Given the description of an element on the screen output the (x, y) to click on. 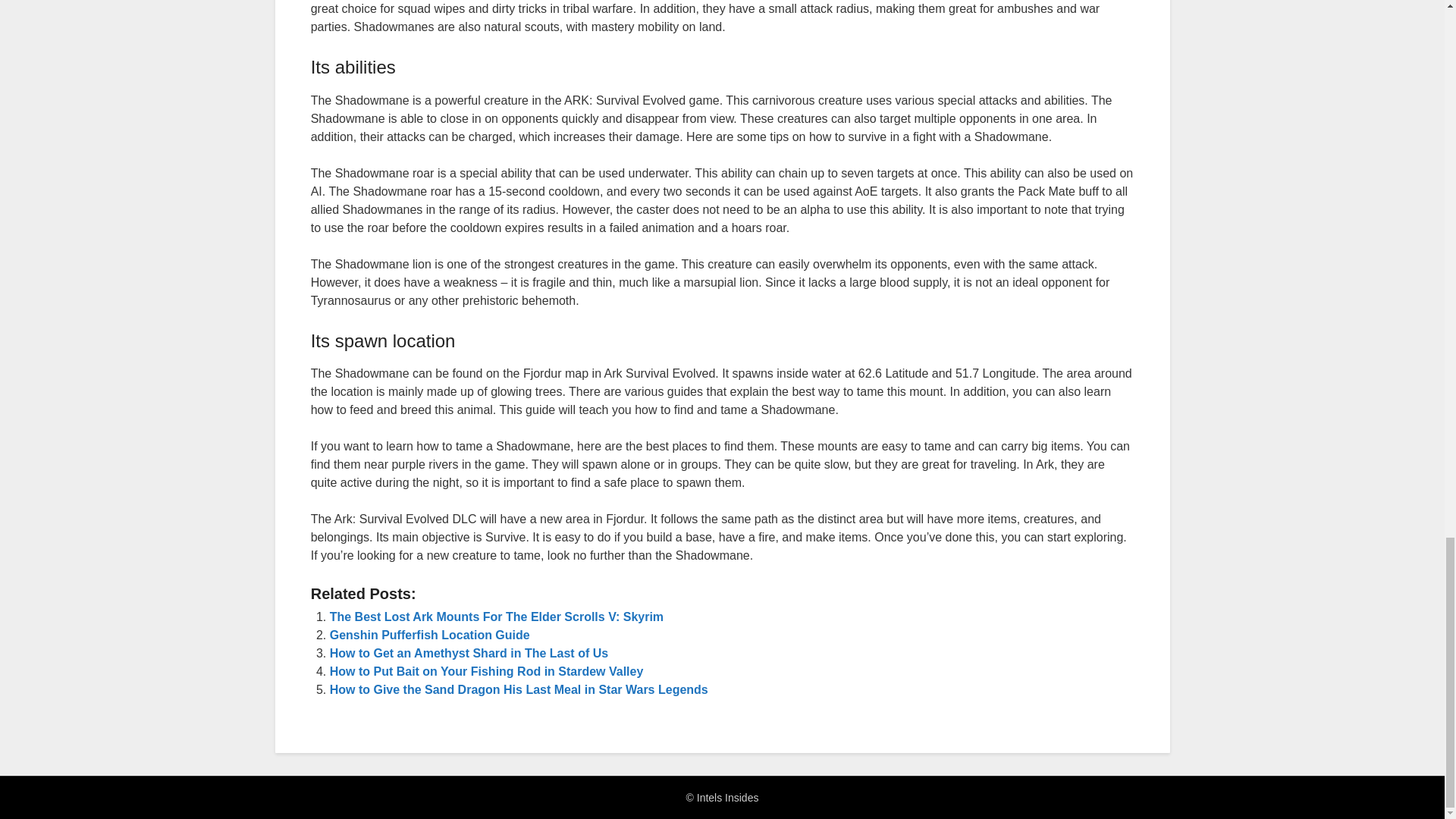
The Best Lost Ark Mounts For The Elder Scrolls V: Skyrim (496, 616)
How to Get an Amethyst Shard in The Last of Us (469, 653)
Genshin Pufferfish Location Guide (429, 634)
The Best Lost Ark Mounts For The Elder Scrolls V: Skyrim (496, 616)
How to Put Bait on Your Fishing Rod in Stardew Valley (486, 671)
Genshin Pufferfish Location Guide (429, 634)
How to Put Bait on Your Fishing Rod in Stardew Valley (486, 671)
How to Get an Amethyst Shard in The Last of Us (469, 653)
